Given the description of an element on the screen output the (x, y) to click on. 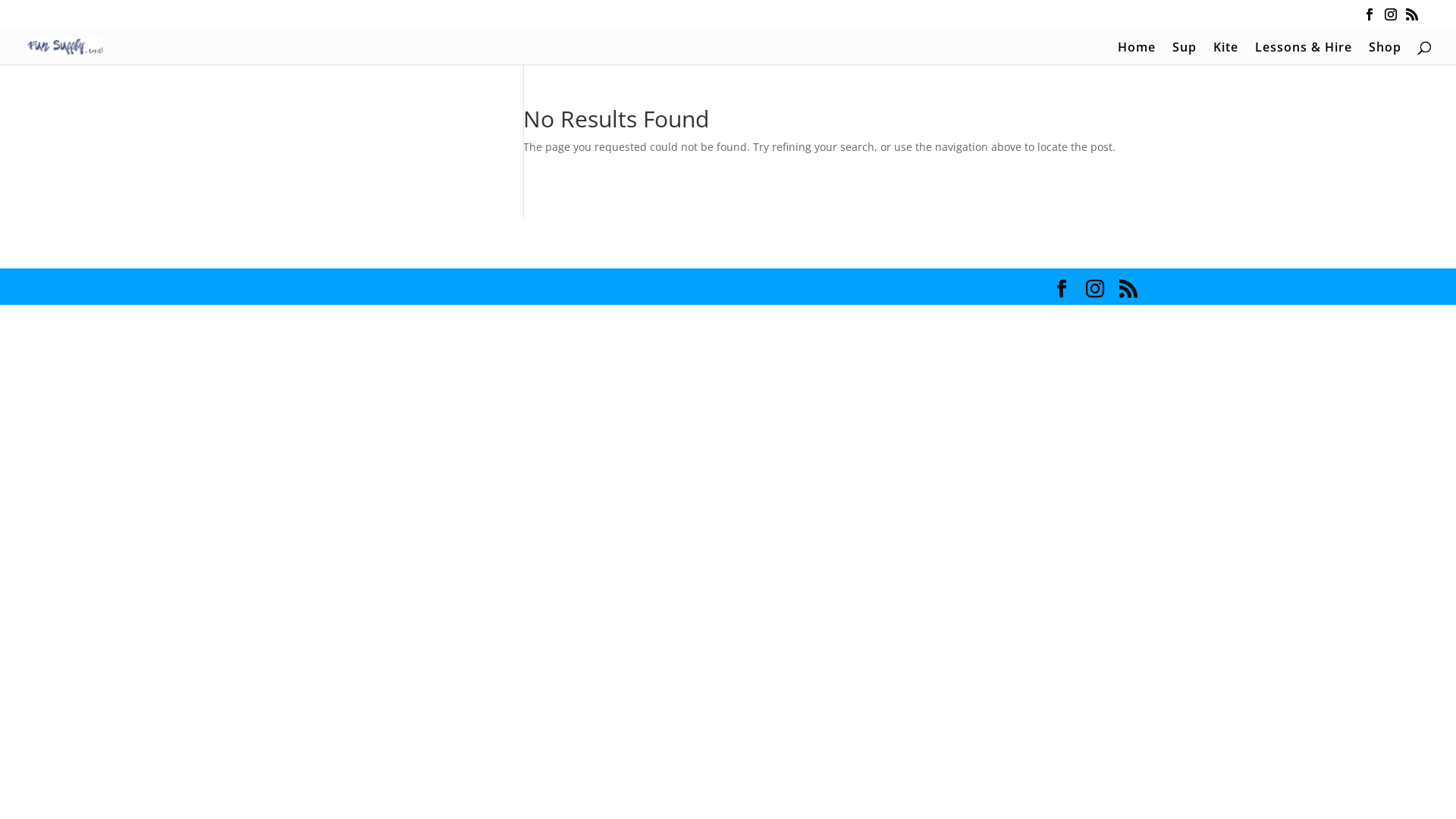
Lessons & Hire Element type: text (1303, 51)
Shop Element type: text (1384, 51)
Kite Element type: text (1225, 51)
Sup Element type: text (1184, 51)
Home Element type: text (1136, 51)
